Given the description of an element on the screen output the (x, y) to click on. 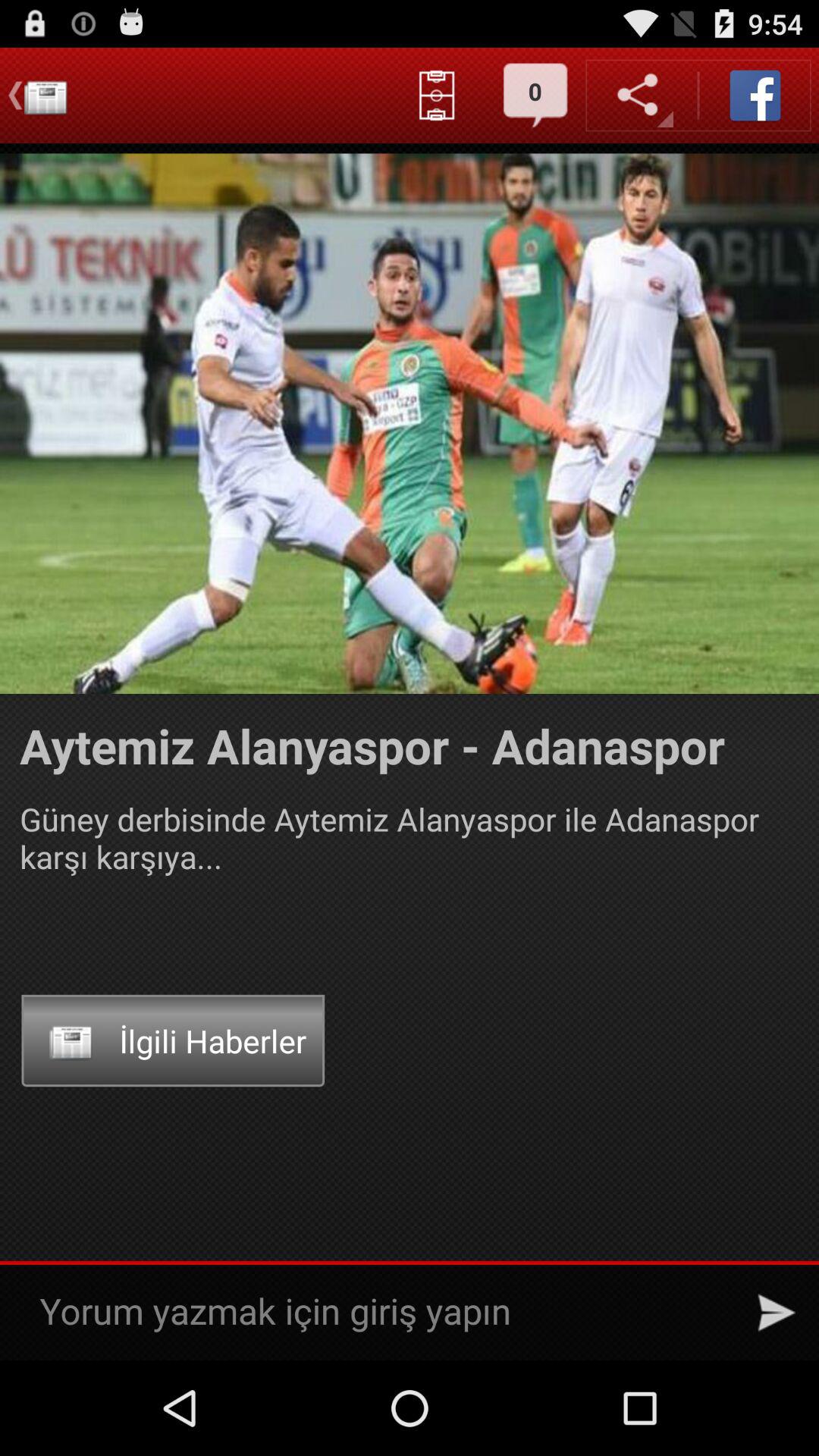
write a comment (382, 1312)
